Given the description of an element on the screen output the (x, y) to click on. 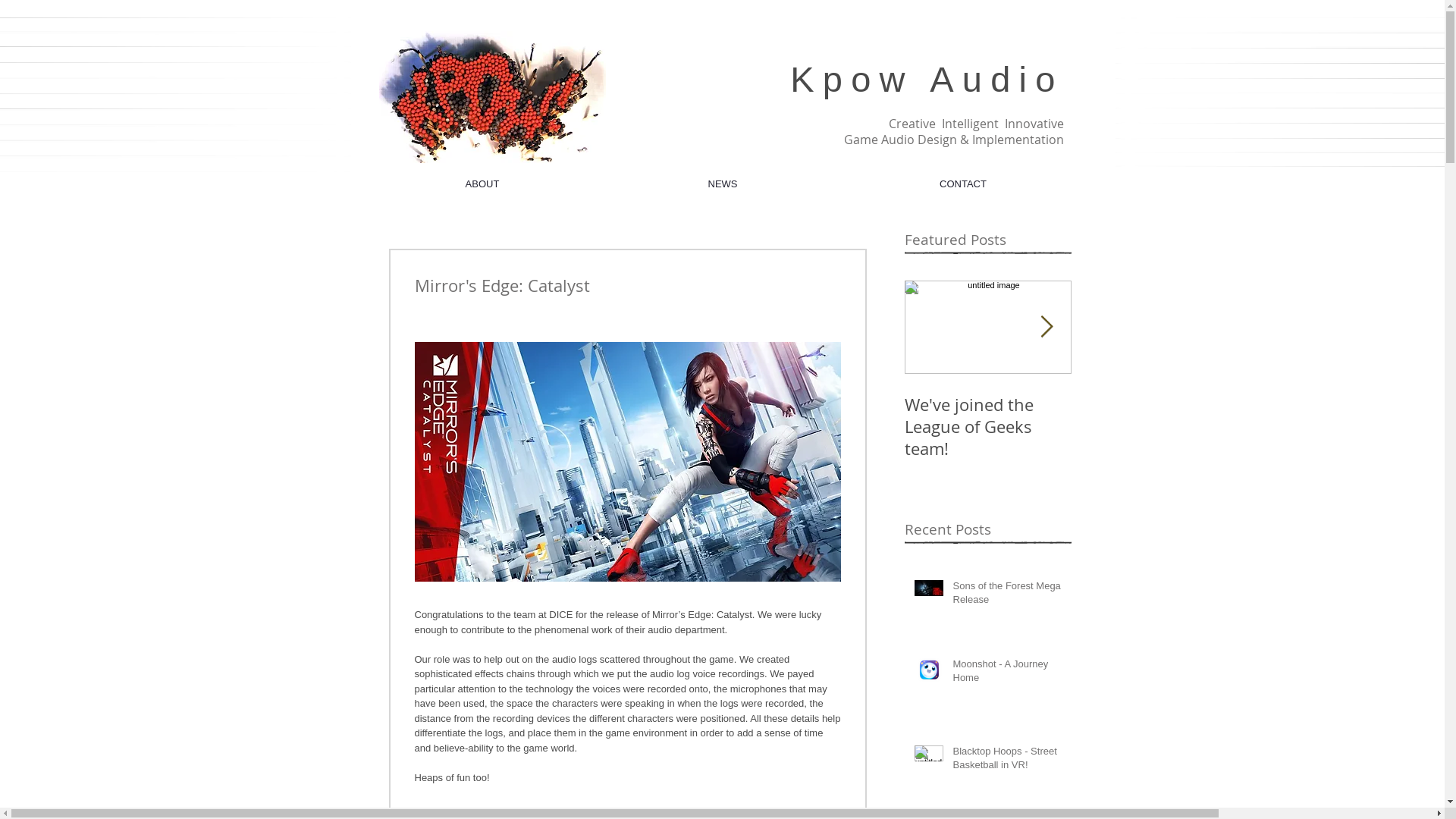
The Banner Saga 2 Releases Today! Element type: text (1320, 415)
CONTACT Element type: text (963, 183)
NEWS Element type: text (722, 183)
Mirror's Edge: Catalyst Element type: text (1153, 415)
Blacktop Hoops - Street Basketball in VR! Element type: text (1006, 761)
Sons of the Forest Mega Release Element type: text (1006, 595)
Moonshot - A Journey Home Element type: text (1006, 673)
We've joined the League of Geeks team! Element type: text (986, 426)
Kpow Audio - Sound for Games Logo Element type: hover (492, 96)
